Given the description of an element on the screen output the (x, y) to click on. 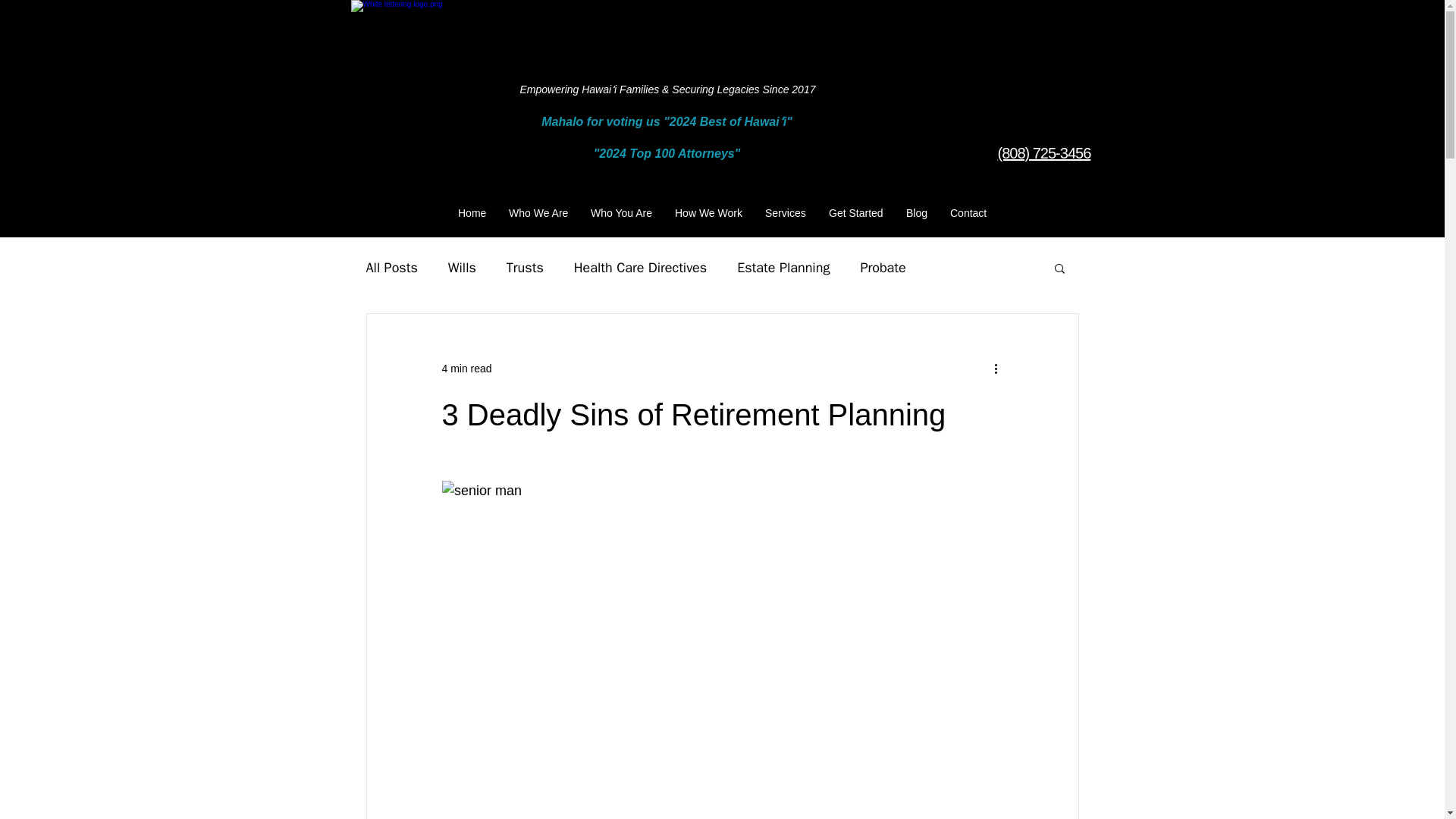
Blog (917, 212)
Probate (882, 267)
Health Care Directives (639, 267)
All Posts (390, 267)
Estate Planning (782, 267)
Trusts (524, 267)
4 min read (466, 368)
Contact (968, 212)
Home (471, 212)
Wills (462, 267)
